Given the description of an element on the screen output the (x, y) to click on. 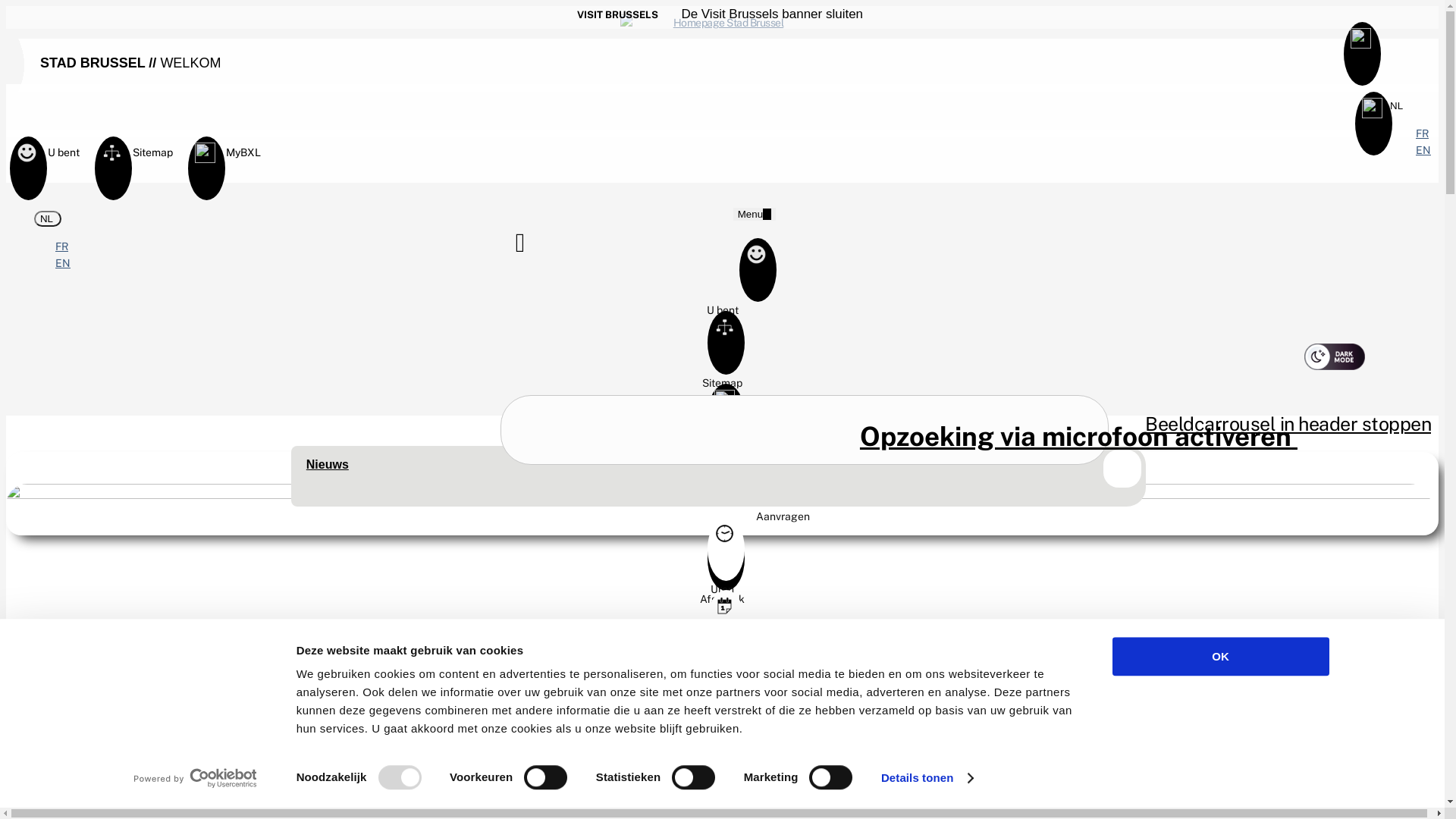
Sitemap Element type: text (111, 159)
Transparantie Element type: text (722, 786)
Opzoeking via microfoon activeren  Element type: text (1077, 436)
NL  Element type: text (1397, 105)
Details tonen Element type: text (926, 777)
EN Element type: text (62, 263)
Live Element type: text (722, 645)
Zoeken Element type: text (538, 245)
Live Element type: text (722, 708)
Nachtmodus activeren
 Element type: hover (1334, 356)
Afspraak Element type: text (722, 592)
Beeldcarrousel in header stoppen Element type: text (1287, 427)
U bent Element type: text (722, 303)
E-loket Element type: text (722, 429)
  De Visit Brussels banner sluiten Element type: text (768, 14)
Nieuws Element type: text (327, 464)
MyBXL Element type: text (204, 159)
Sitemap Element type: text (722, 376)
Homepage Stad Brussel Element type: hover (722, 19)
Aanvragen Element type: text (783, 492)
Uren Element type: text (722, 520)
Uren Element type: text (722, 583)
NL  Element type: text (47, 218)
FR Element type: text (1421, 133)
Zoeken Element type: hover (804, 429)
Politiek leven Element type: text (722, 716)
Afspraak Element type: text (722, 655)
U bent Element type: text (26, 159)
OK Element type: text (1219, 656)
Terug naar boven Element type: text (1419, 748)
Menu    Element type: text (754, 213)
FR Element type: text (61, 246)
EN Element type: text (1422, 150)
VISIT BRUSSELS Element type: text (617, 14)
Politiek leven Element type: text (722, 779)
